Given the description of an element on the screen output the (x, y) to click on. 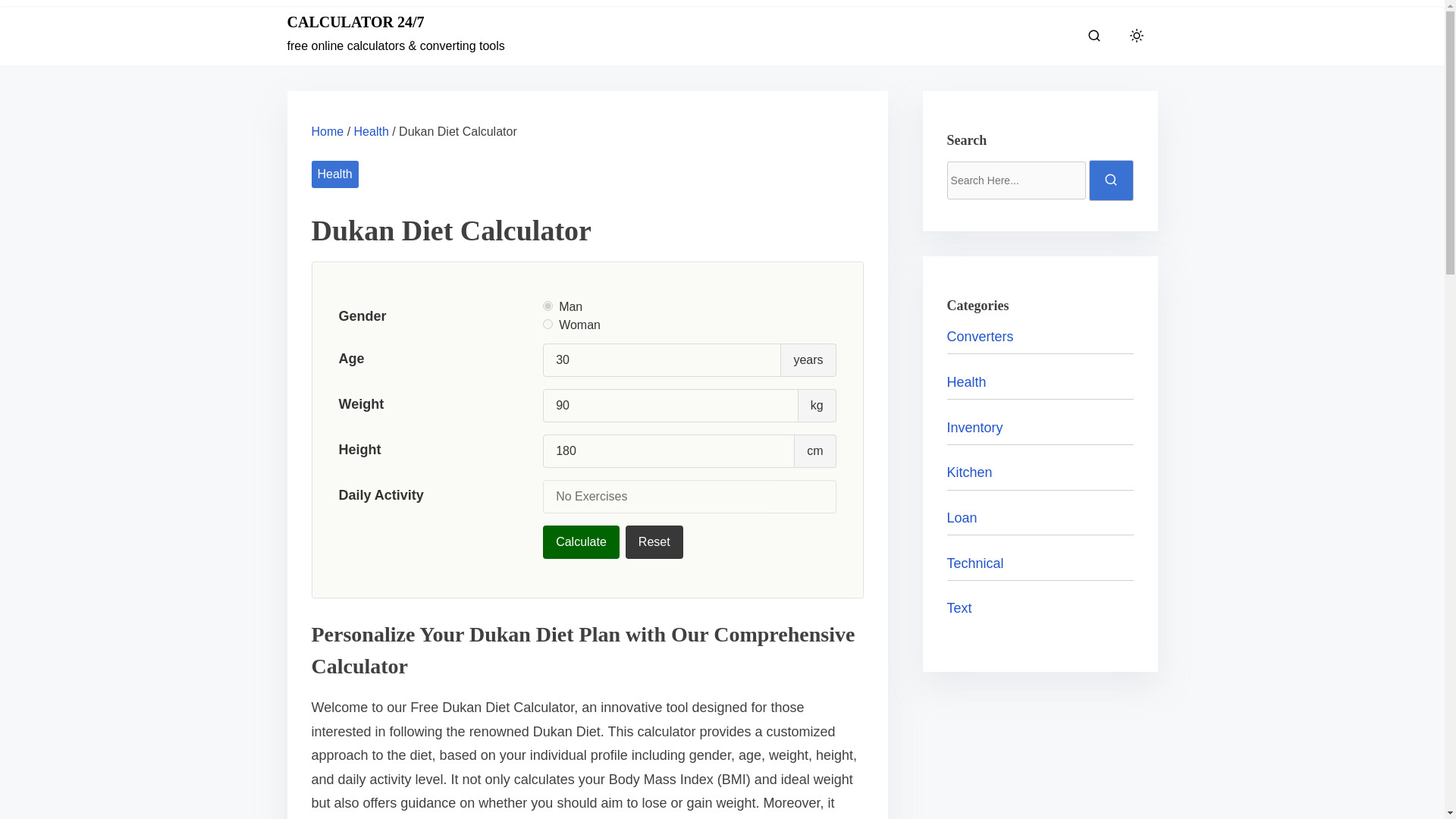
Home (327, 131)
Calculate (581, 541)
Technical (975, 563)
Kitchen (969, 472)
1 (548, 306)
2 (548, 324)
180 (668, 450)
Health (334, 174)
Health (967, 381)
Converters (980, 336)
Health (370, 131)
30 (661, 359)
Inventory (975, 427)
Reset (654, 541)
90 (670, 405)
